Given the description of an element on the screen output the (x, y) to click on. 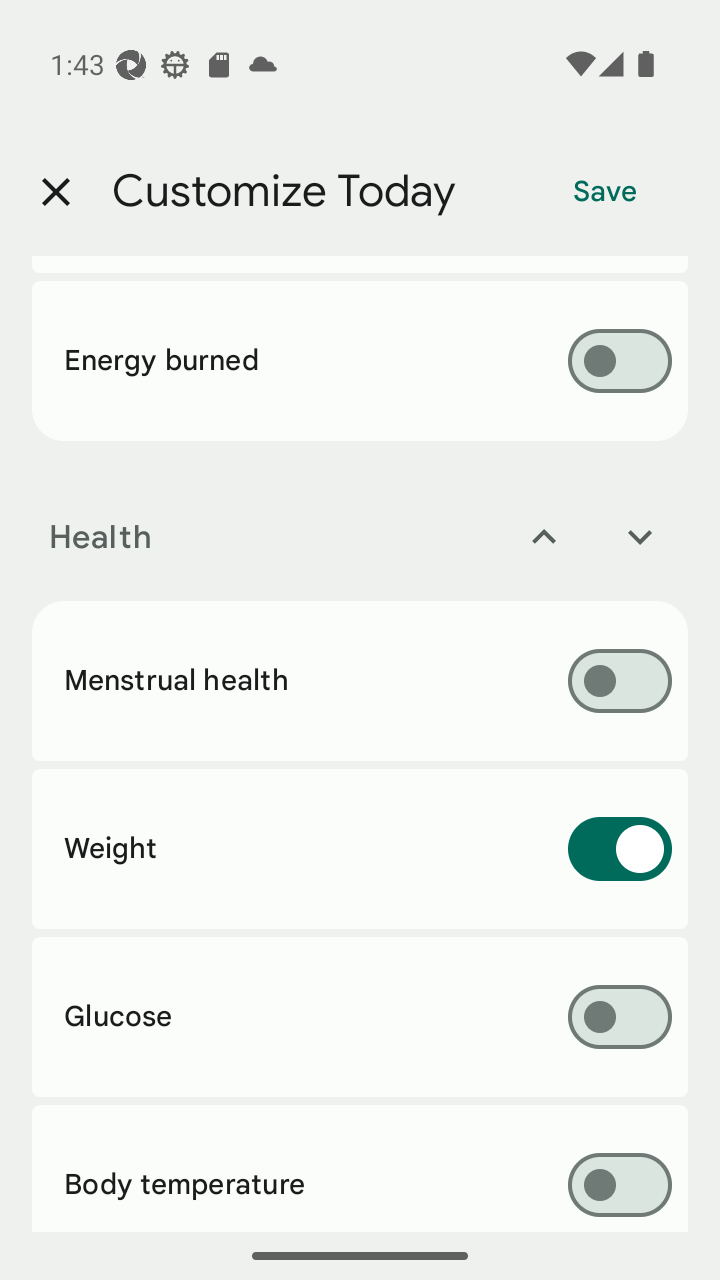
Close (55, 191)
Save (605, 191)
Energy burned (359, 361)
Move Health up (543, 536)
Move Health down (639, 536)
Menstrual health (359, 681)
Weight (359, 849)
Glucose (359, 1016)
Body temperature (359, 1167)
